Given the description of an element on the screen output the (x, y) to click on. 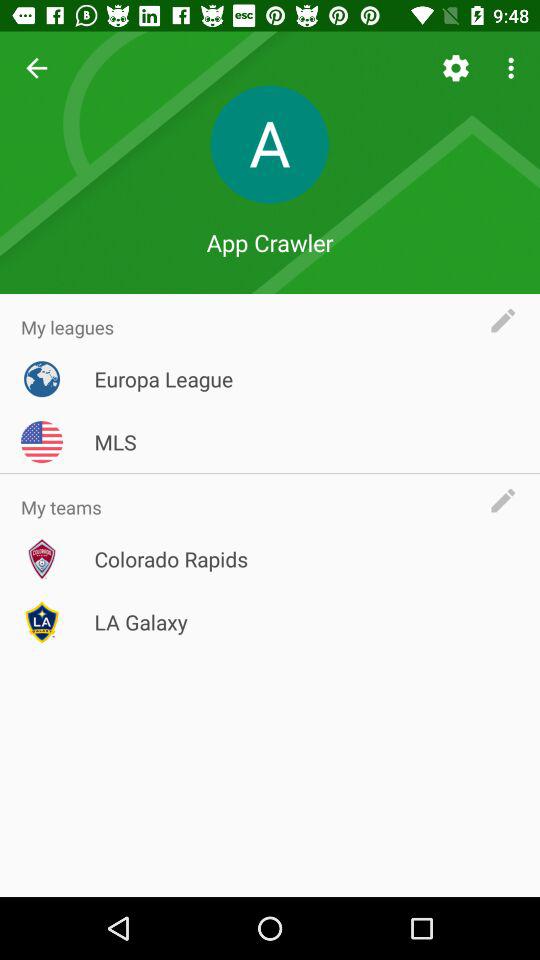
edit selected options (508, 320)
